Given the description of an element on the screen output the (x, y) to click on. 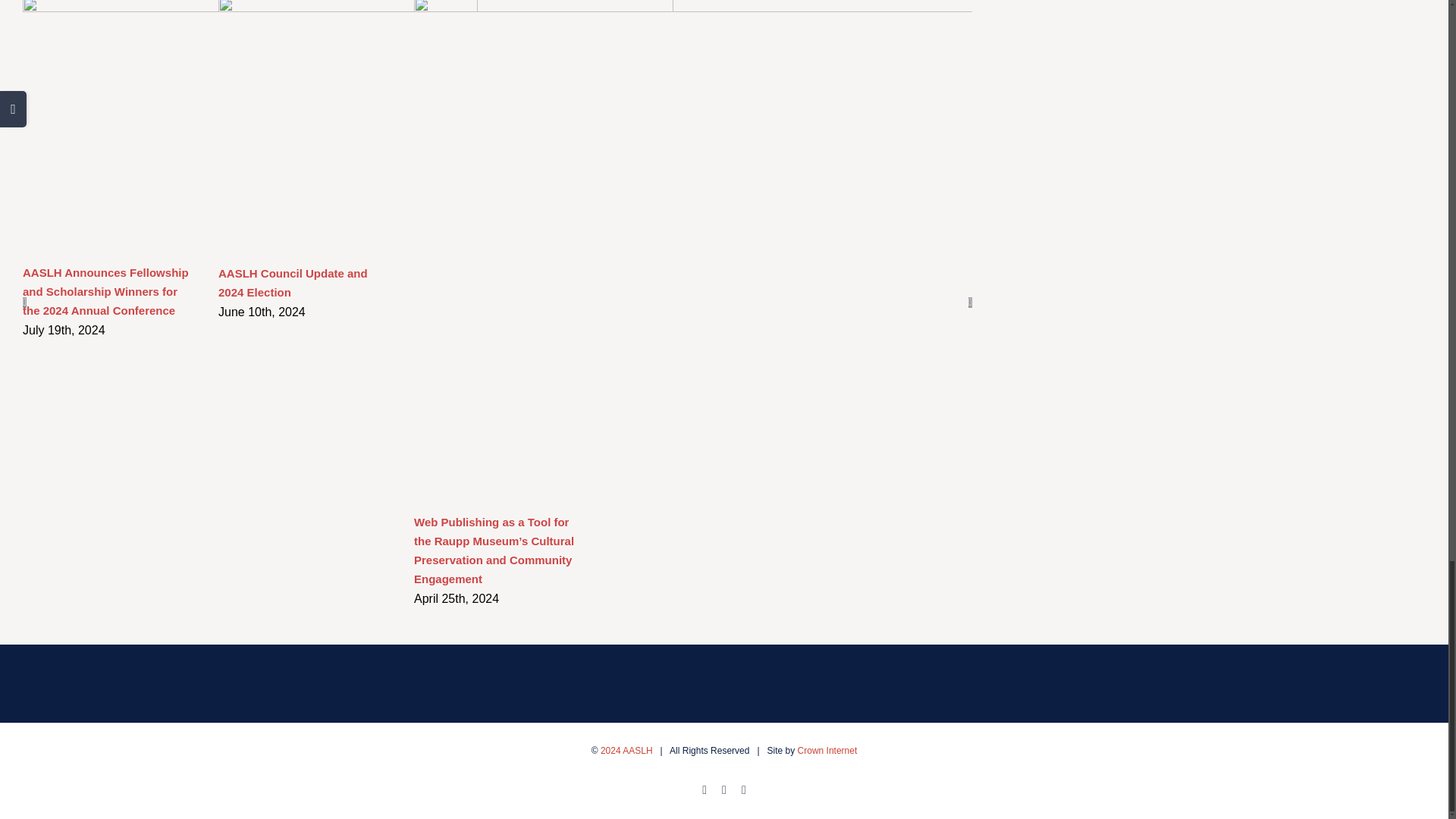
Facebook (703, 789)
YouTube (743, 789)
LinkedIn (724, 789)
AASLH Council Update and 2024 Election (293, 282)
